Given the description of an element on the screen output the (x, y) to click on. 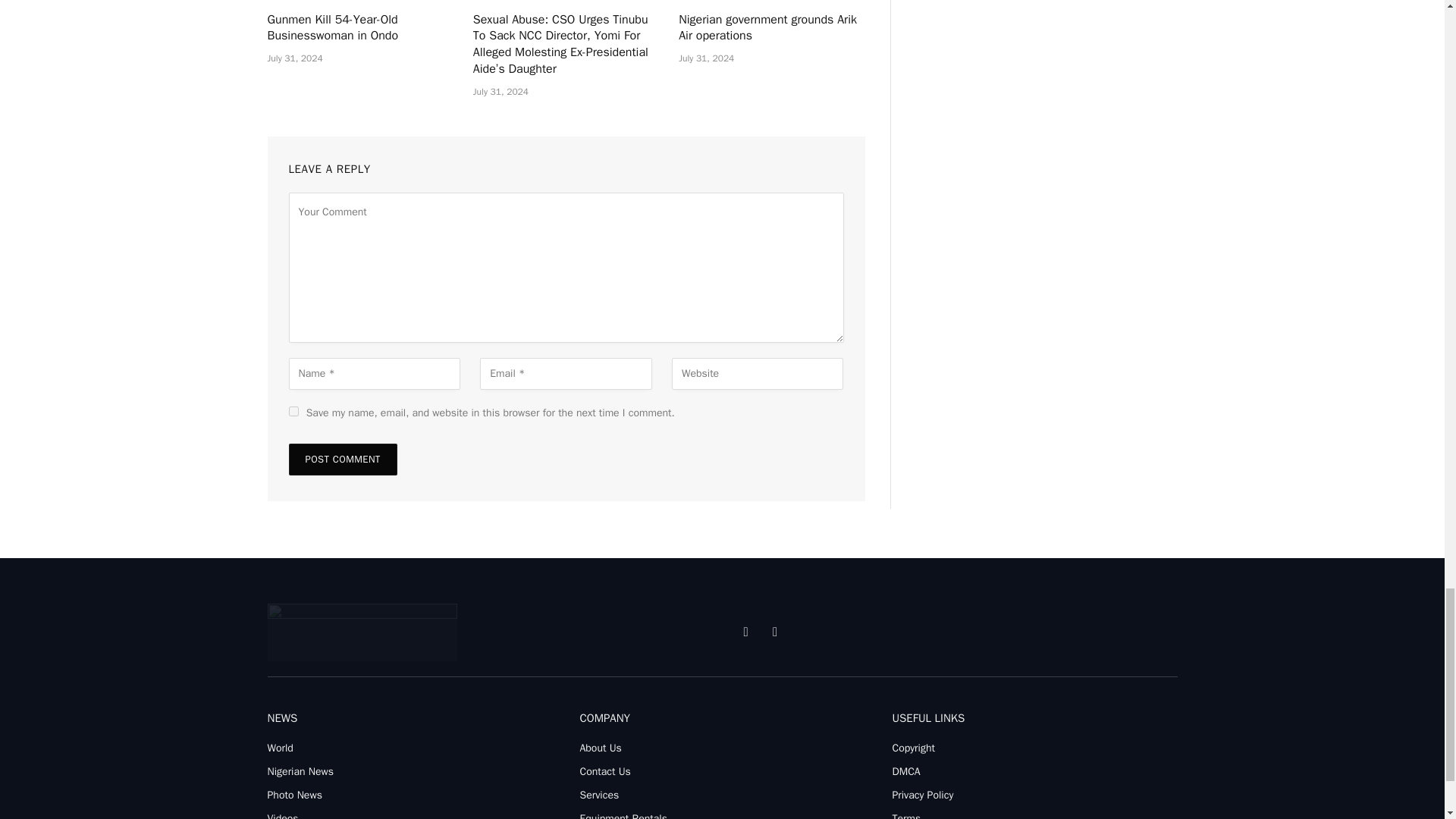
Post Comment (342, 459)
yes (293, 411)
